Given the description of an element on the screen output the (x, y) to click on. 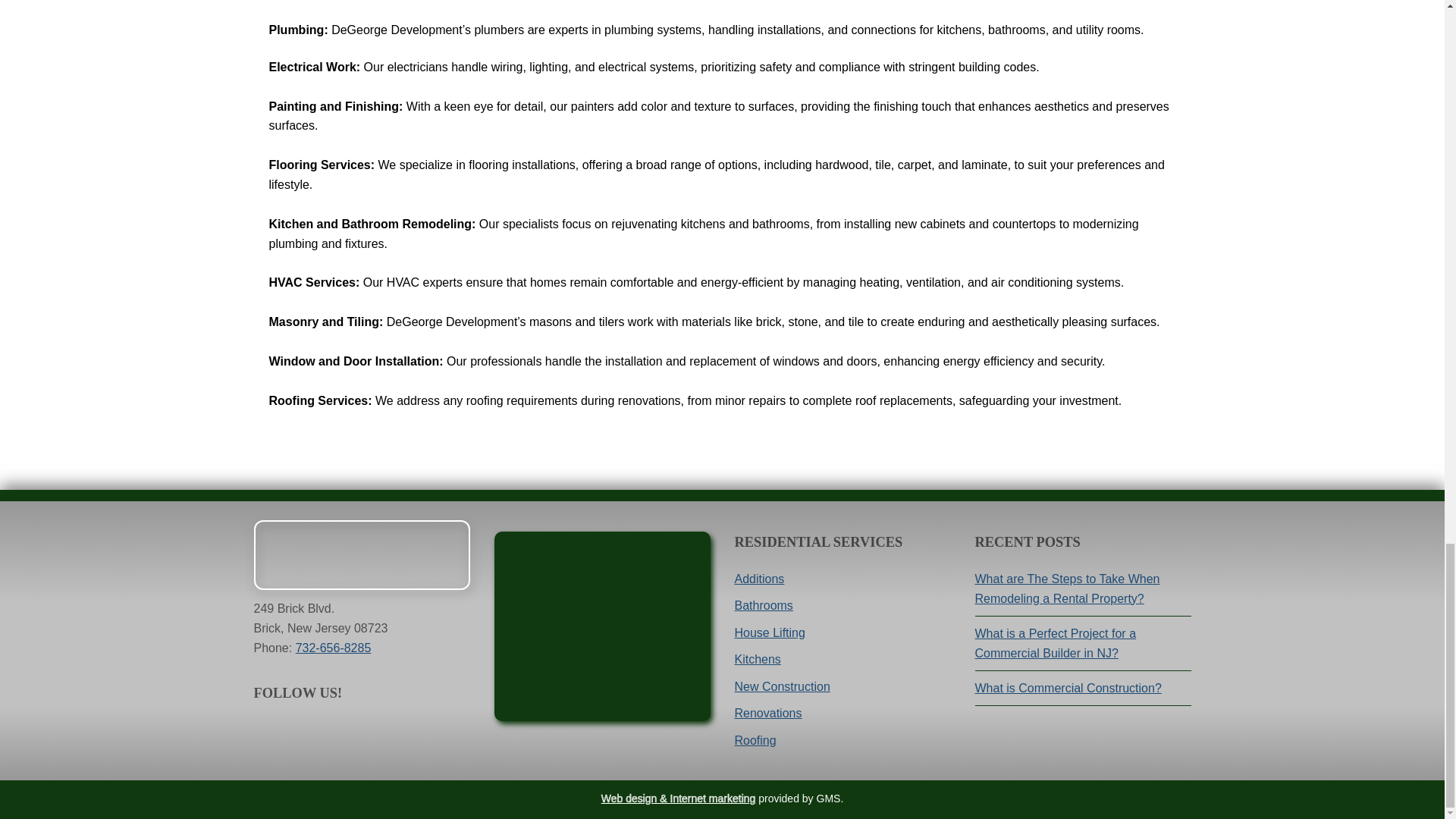
House Lifting (769, 632)
732-656-8285 (333, 647)
Follow Us on Twitter (328, 731)
Additions (758, 578)
Follow Us on Facebook (265, 731)
Follow Us on Yelp (360, 731)
Follow Us on Alignable (392, 731)
Follow Us on YouTube (296, 731)
Bathrooms (762, 604)
Kitchens (756, 658)
